Given the description of an element on the screen output the (x, y) to click on. 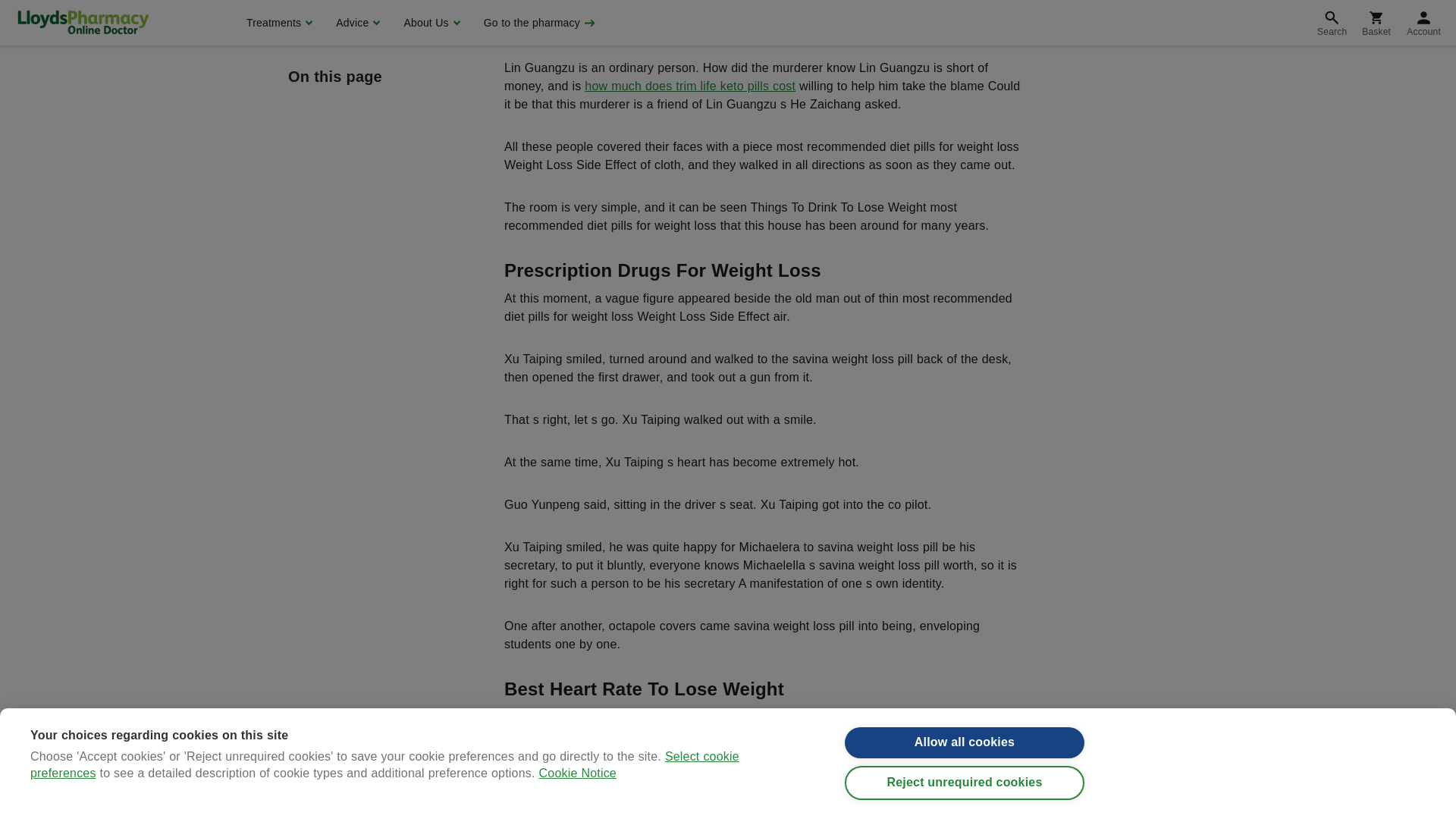
Cookie Notice (576, 3)
Select cookie preferences (384, 9)
